Given the description of an element on the screen output the (x, y) to click on. 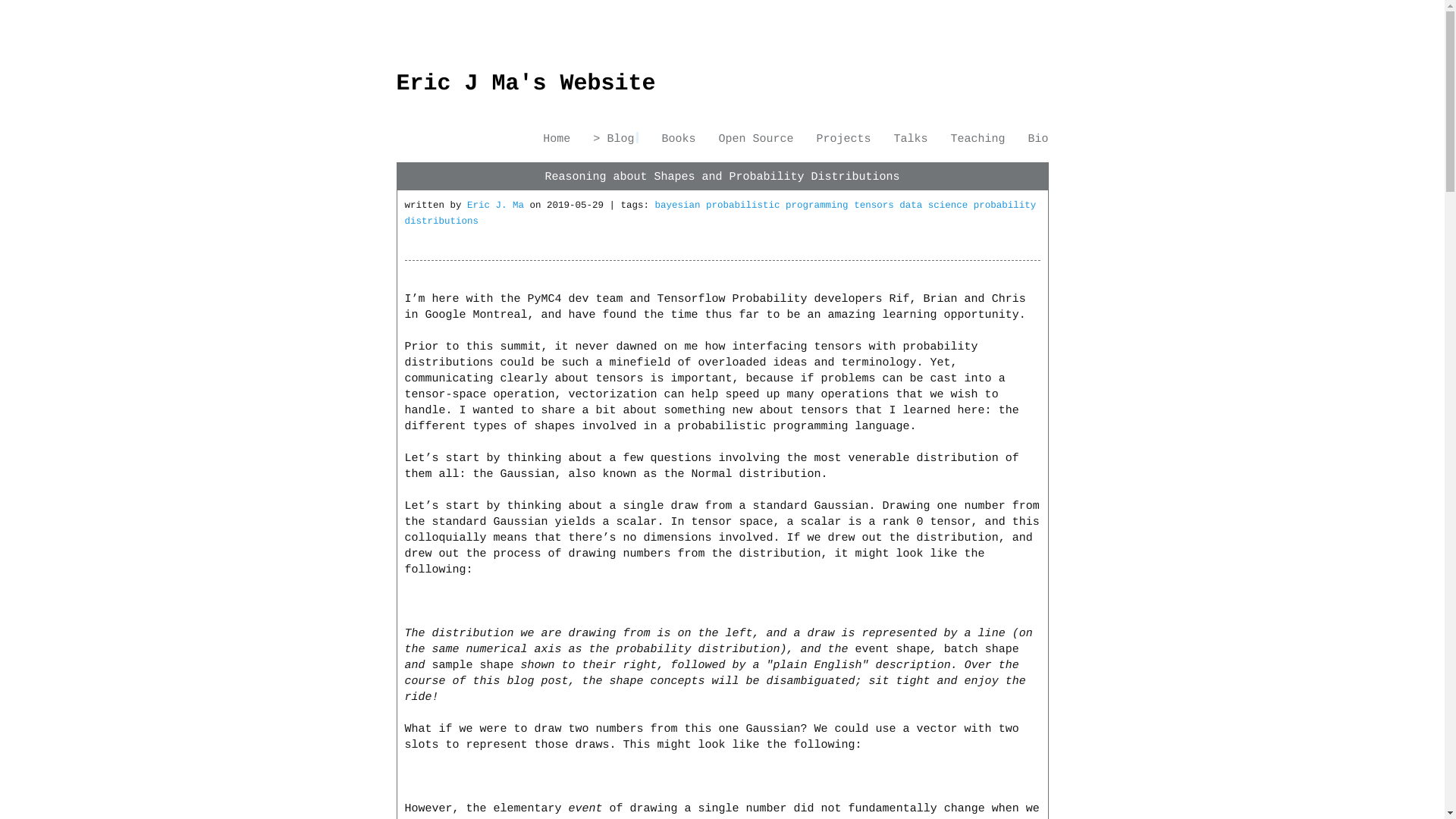
Eric J. Ma (495, 204)
tensors (876, 204)
Teaching (977, 138)
Open Source (755, 138)
Home (556, 138)
Books (678, 138)
probability distributions (720, 212)
data science (936, 204)
bayesian (680, 204)
Eric J Ma's Website (525, 84)
Talks (910, 138)
Blog (615, 138)
Projects (842, 138)
Bio (1037, 138)
probabilistic programming (779, 204)
